Given the description of an element on the screen output the (x, y) to click on. 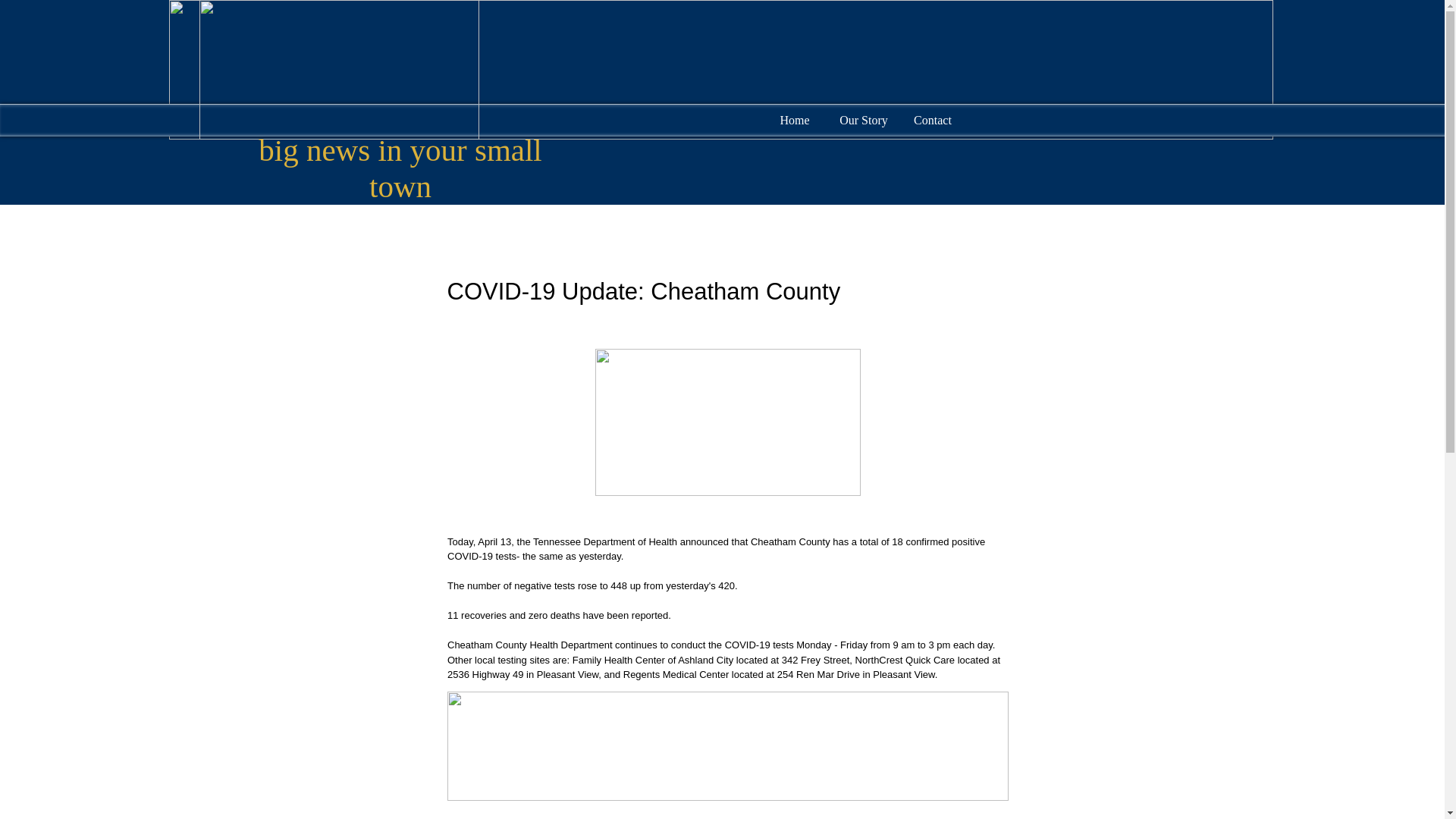
The Post Logo-10.png (338, 69)
Contact (932, 118)
Home (794, 118)
Our Story (863, 118)
